Given the description of an element on the screen output the (x, y) to click on. 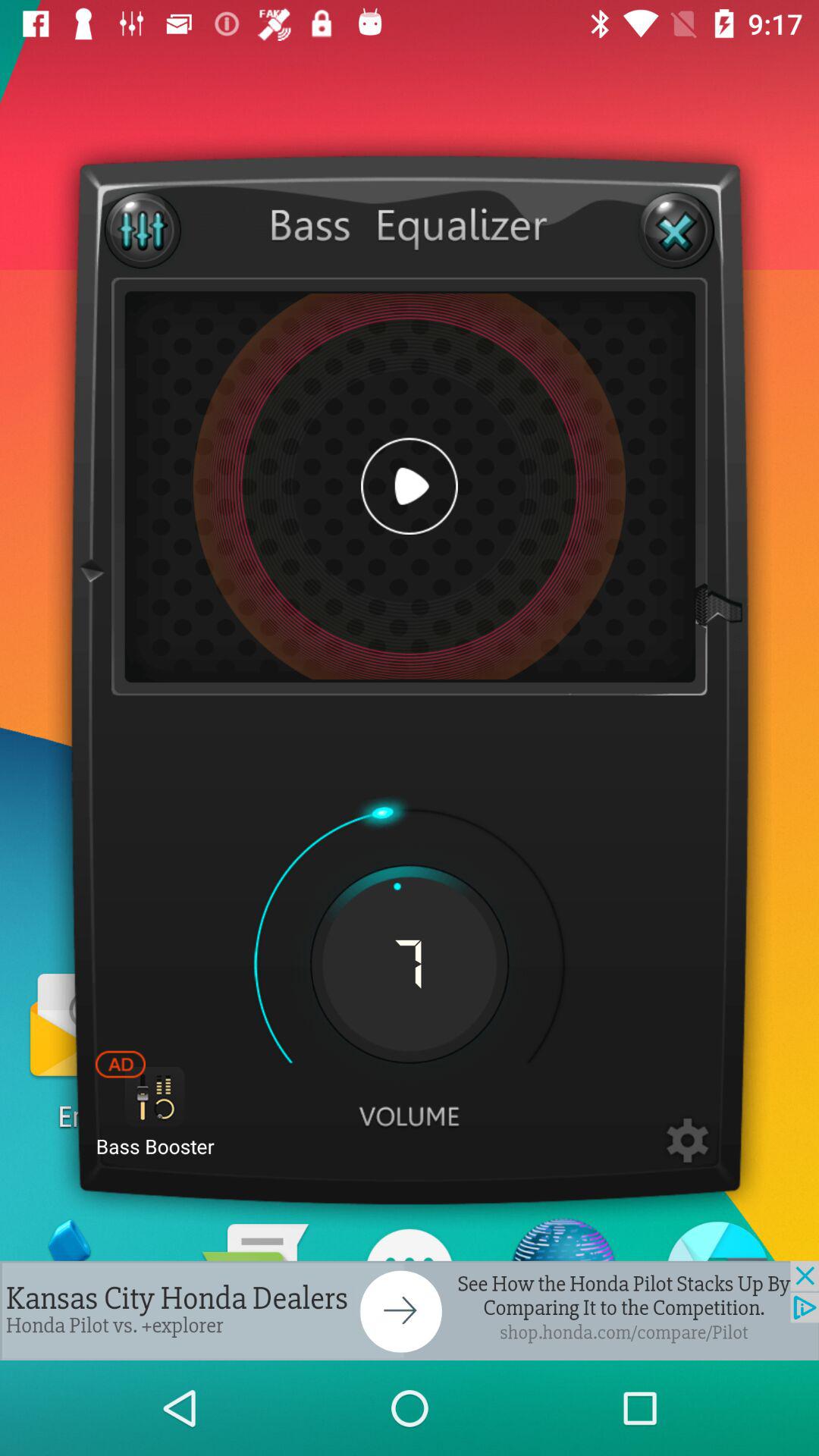
setting option (687, 1141)
